Given the description of an element on the screen output the (x, y) to click on. 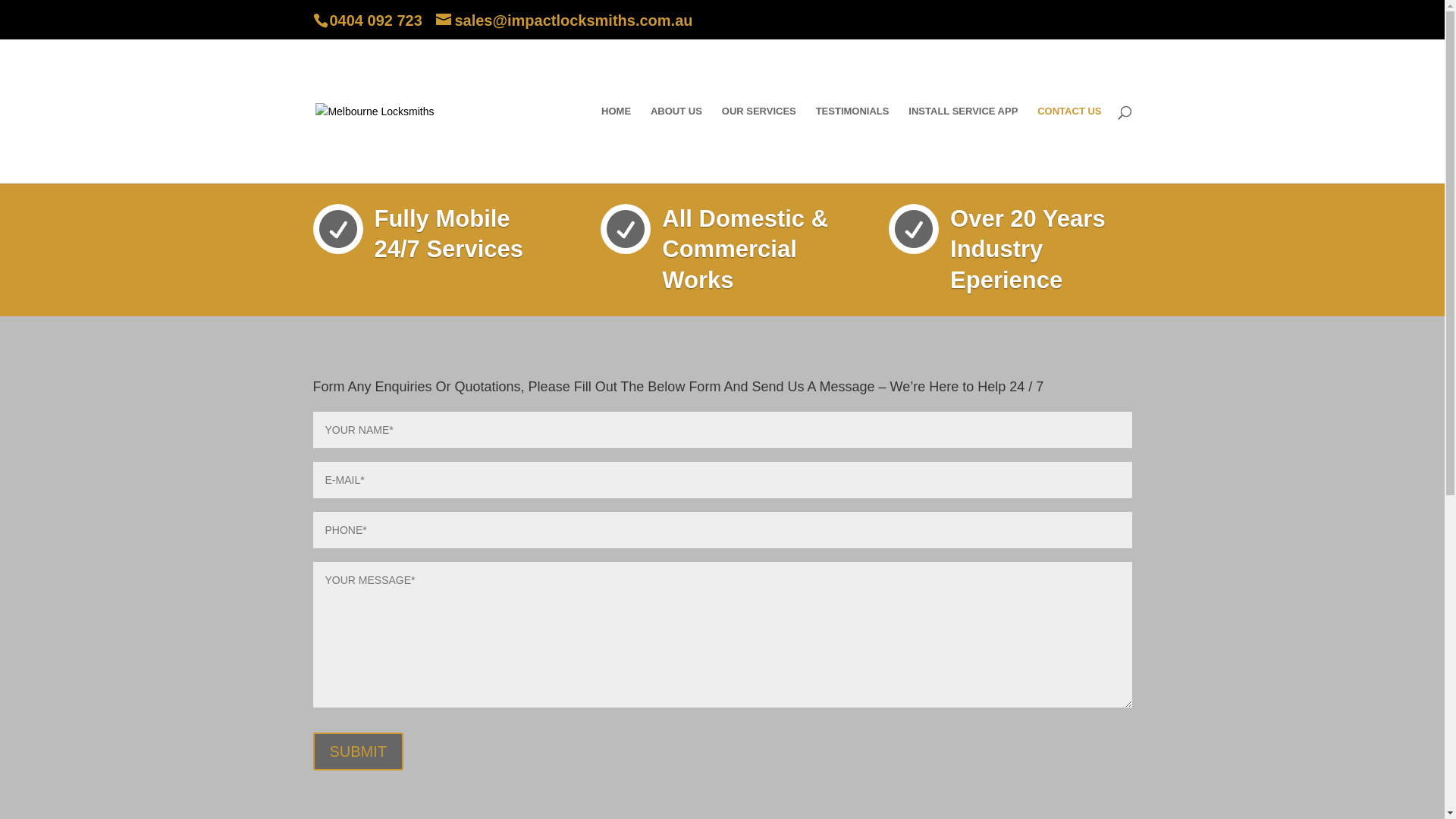
sales@impactlocksmiths.com.au Element type: text (564, 20)
CONTACT US Element type: text (1069, 144)
TESTIMONIALS Element type: text (852, 144)
INSTALL SERVICE APP Element type: text (962, 144)
HOME Element type: text (615, 144)
OUR SERVICES Element type: text (758, 144)
ABOUT US Element type: text (676, 144)
SUBMIT Element type: text (357, 751)
